Given the description of an element on the screen output the (x, y) to click on. 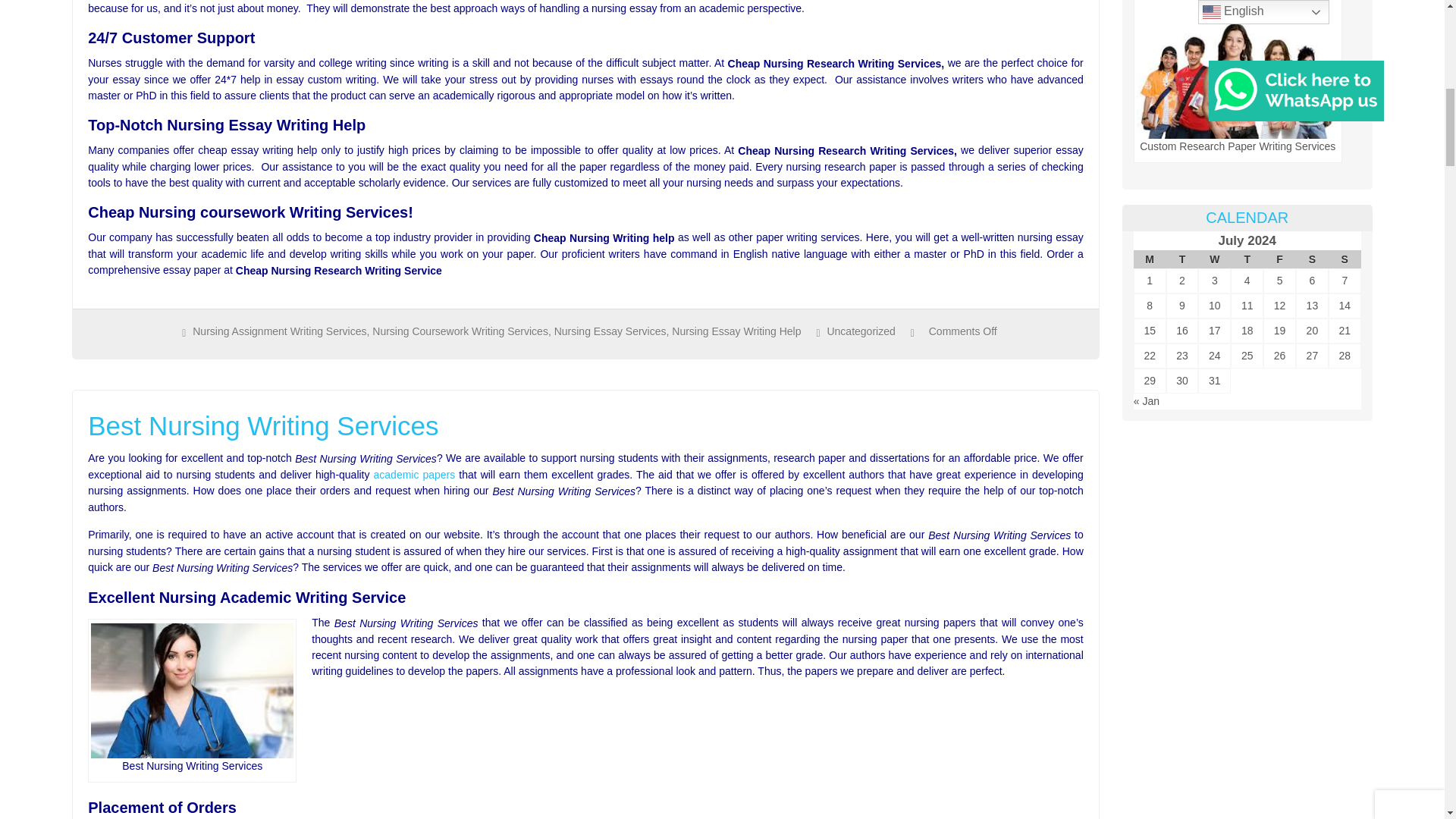
Nursing Essay Writing Help (735, 331)
Nursing Coursework Writing Services (460, 331)
Thursday (1246, 259)
academic papers (414, 474)
Nursing Assignment Writing Services (279, 331)
Monday (1150, 259)
Nursing Essay Services (610, 331)
Tuesday (1182, 259)
Best Nursing Writing Services (585, 426)
Uncategorized (861, 331)
Wednesday (1214, 259)
Best Nursing Writing Services (192, 690)
